Given the description of an element on the screen output the (x, y) to click on. 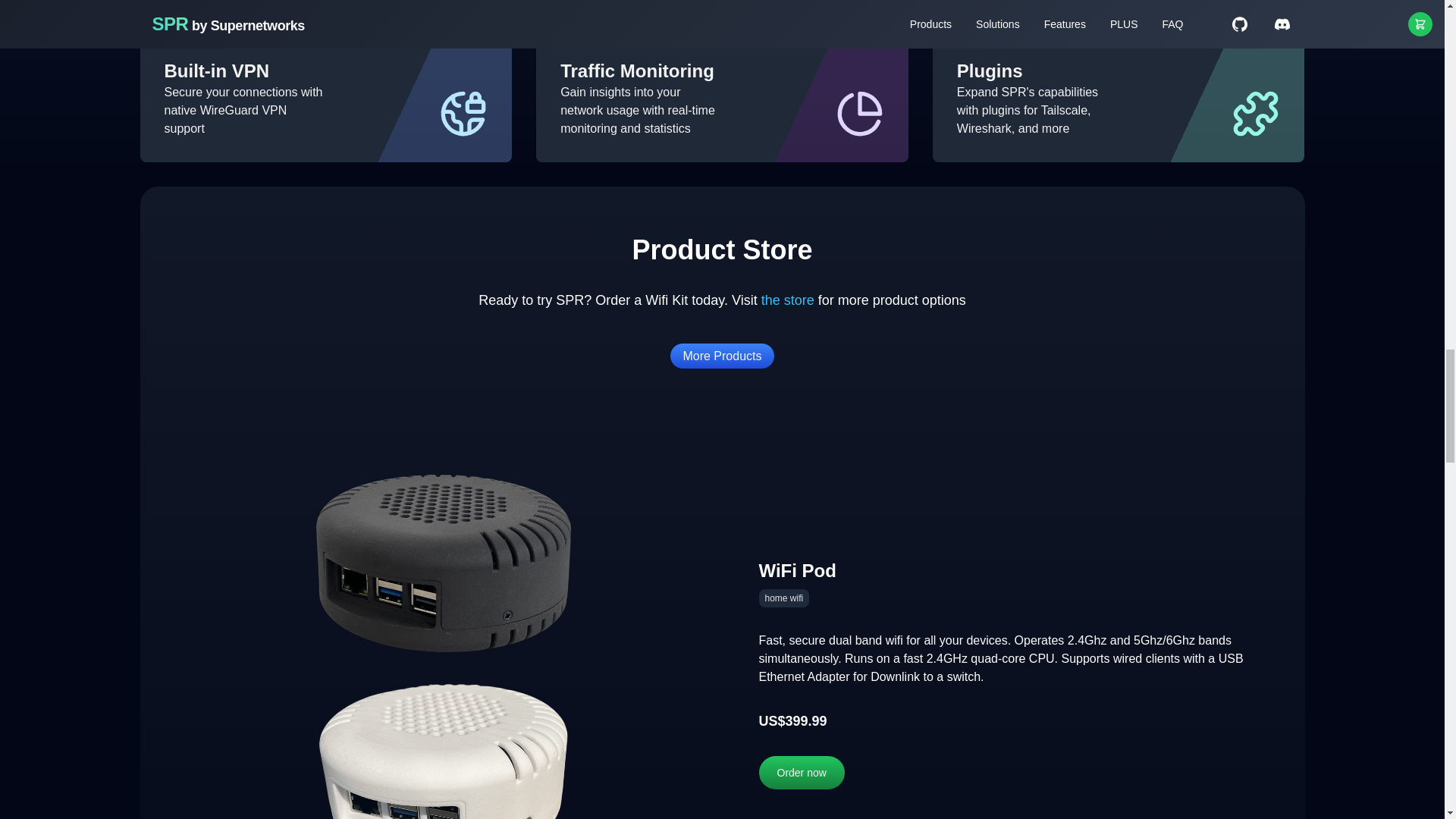
More Products (721, 355)
Order now (801, 772)
the store (787, 299)
